Given the description of an element on the screen output the (x, y) to click on. 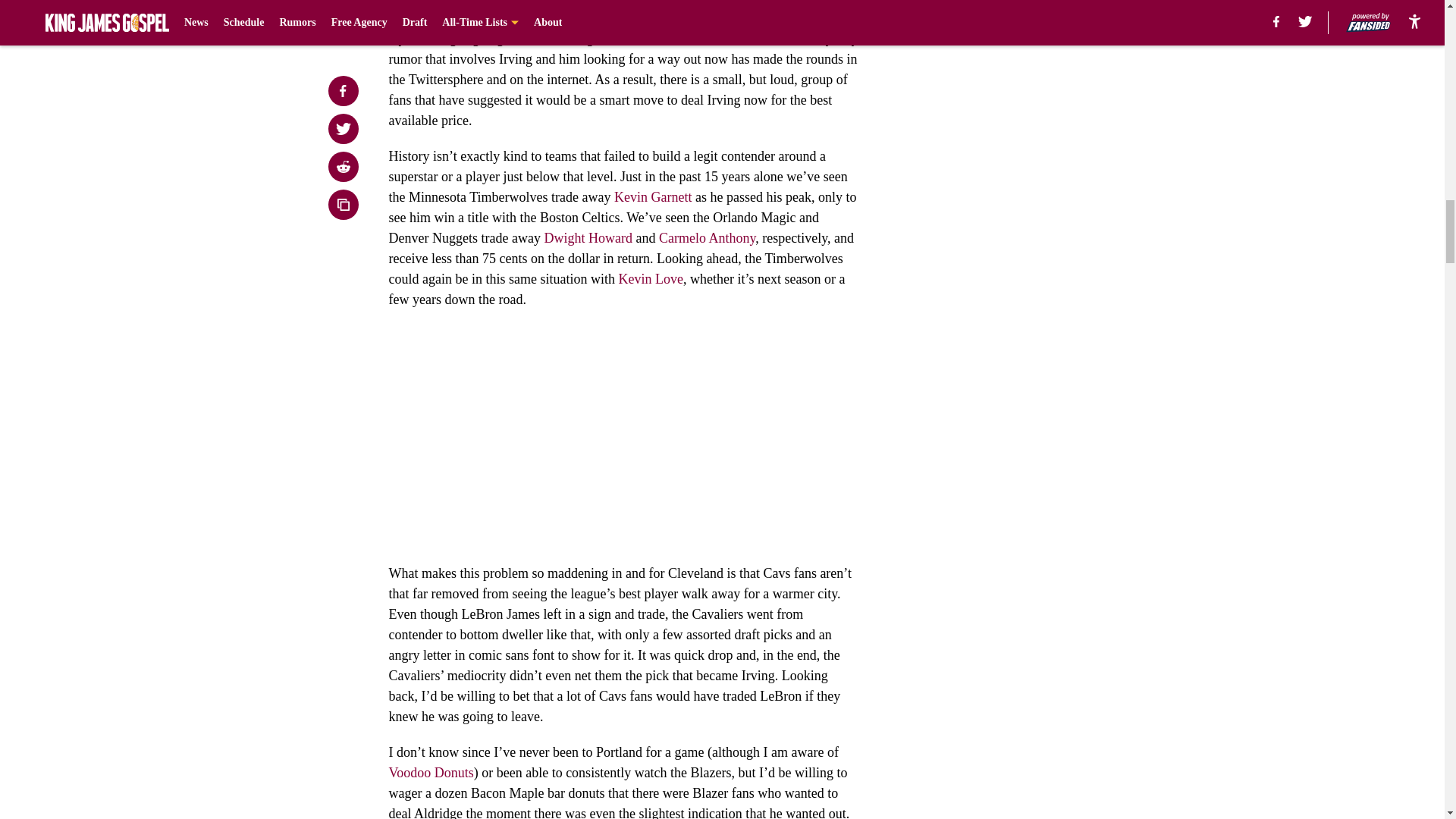
Carmelo Anthony (707, 237)
Dwight Howard (587, 237)
Voodoo Donuts (430, 772)
Kevin Love (649, 278)
Kyrie Irving (446, 17)
Kevin Garnett (652, 196)
Dion Waiters (778, 17)
